Given the description of an element on the screen output the (x, y) to click on. 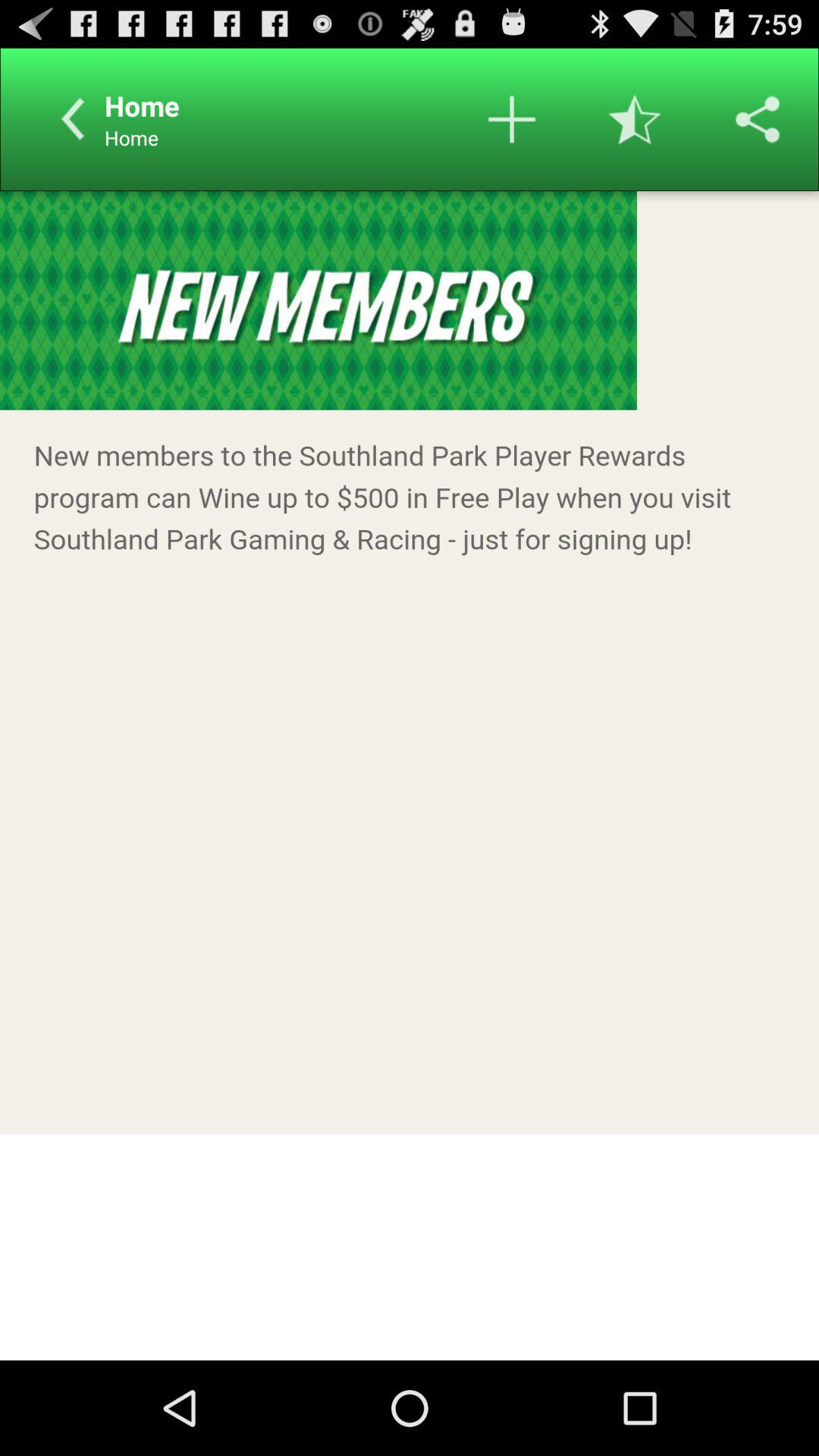
share the page (757, 119)
